Given the description of an element on the screen output the (x, y) to click on. 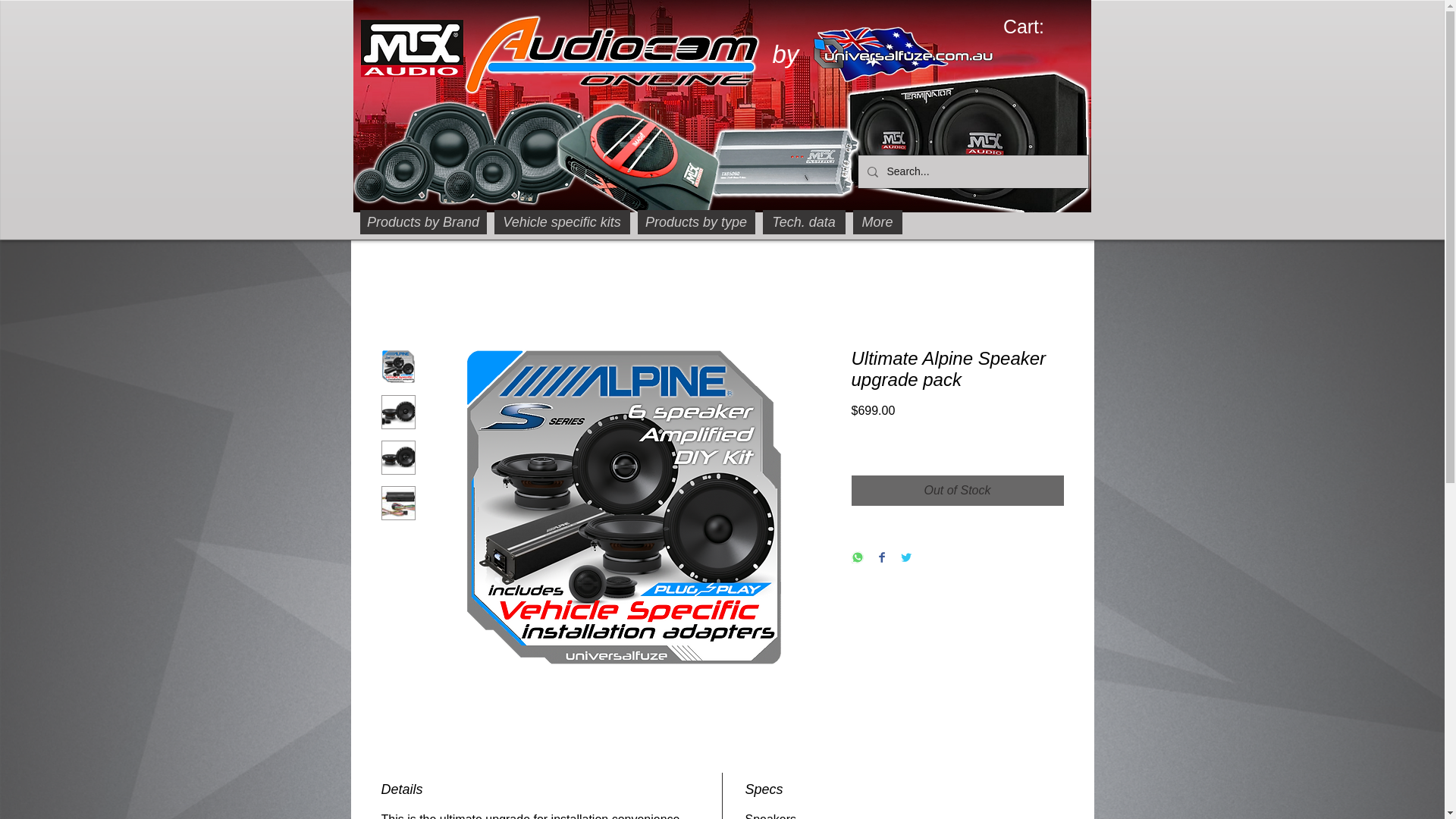
Cart: (1036, 26)
Vehicle specific kits (562, 221)
Cart: (1036, 26)
Out of Stock (956, 490)
More (876, 221)
Products by type (695, 221)
Products by Brand (422, 221)
Tech. data (803, 221)
